Given the description of an element on the screen output the (x, y) to click on. 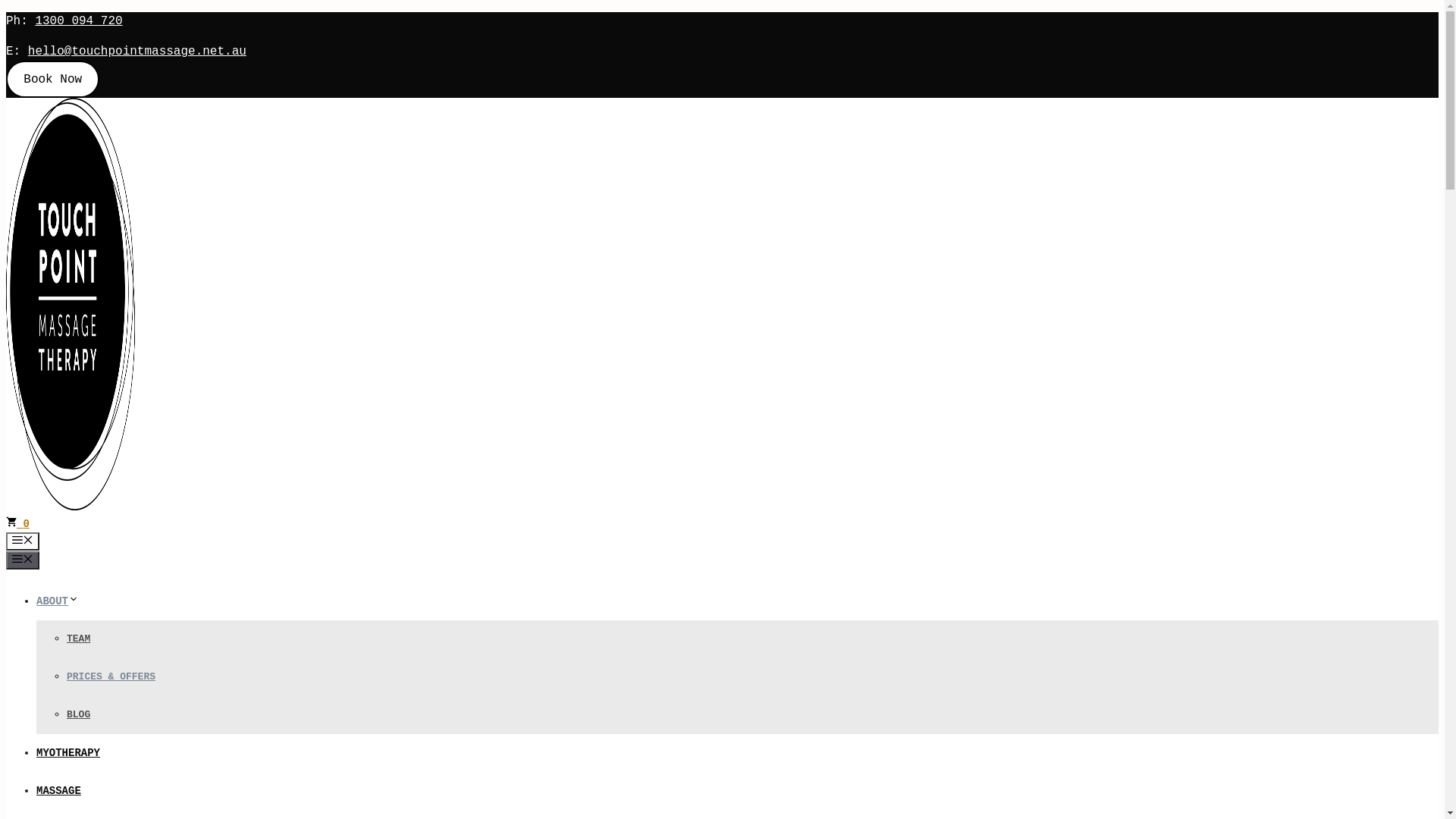
ABOUT Element type: text (57, 601)
TEAM Element type: text (78, 638)
Touch Point Massage Element type: hover (70, 507)
PRICES & OFFERS Element type: text (110, 676)
1300 094 720 Element type: text (78, 21)
MENU Element type: text (22, 560)
Touch Point Massage Element type: hover (70, 303)
BLOG Element type: text (78, 714)
0 Element type: text (17, 523)
MENU Element type: text (22, 541)
Skip to content Element type: text (5, 11)
Book Now Element type: text (52, 78)
hello@touchpointmassage.net.au Element type: text (137, 51)
MYOTHERAPY Element type: text (68, 752)
MASSAGE Element type: text (58, 790)
